Given the description of an element on the screen output the (x, y) to click on. 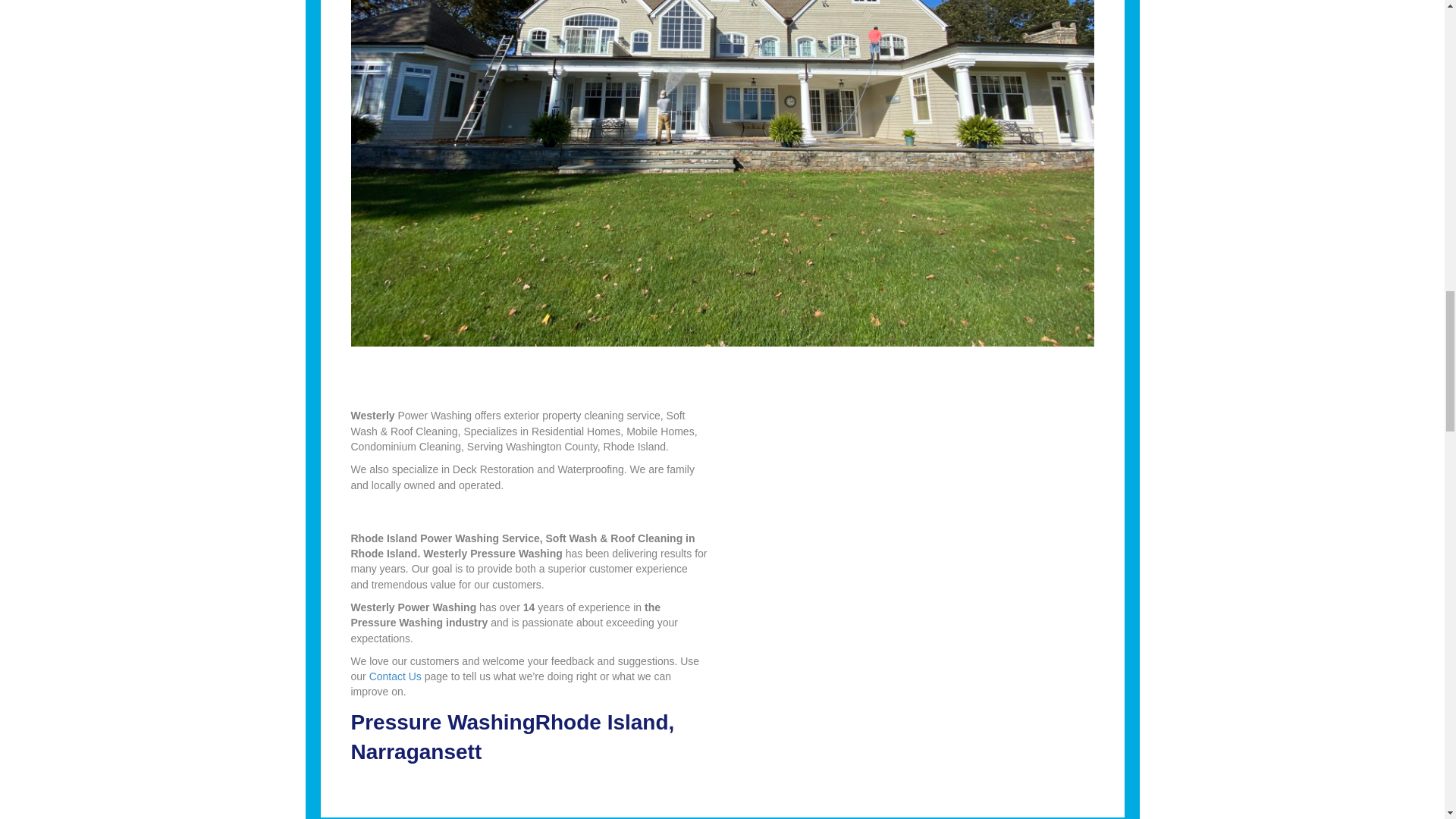
Contact Us (395, 676)
